Given the description of an element on the screen output the (x, y) to click on. 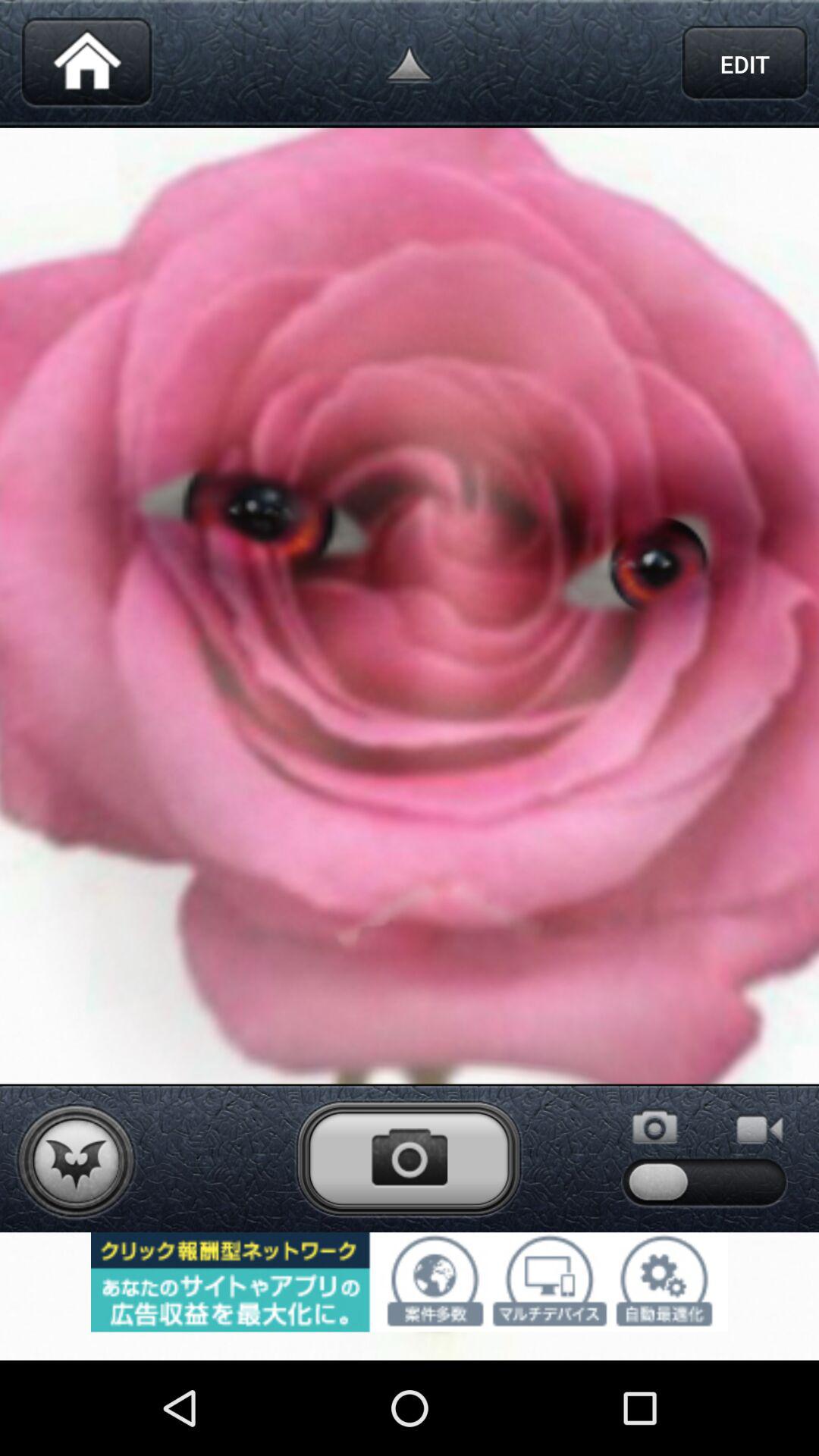
advertisement (409, 1282)
